Given the description of an element on the screen output the (x, y) to click on. 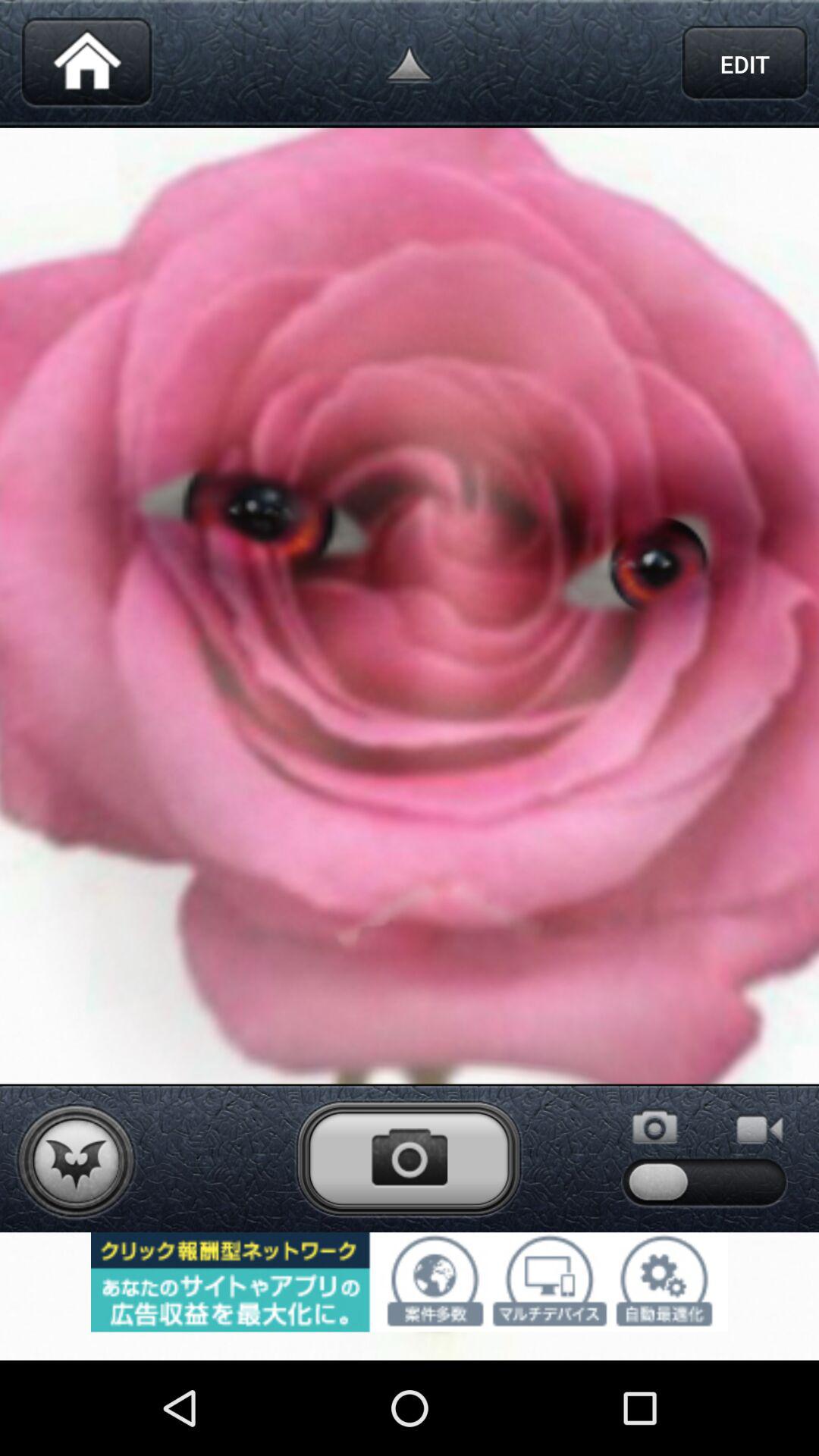
advertisement (409, 1282)
